Given the description of an element on the screen output the (x, y) to click on. 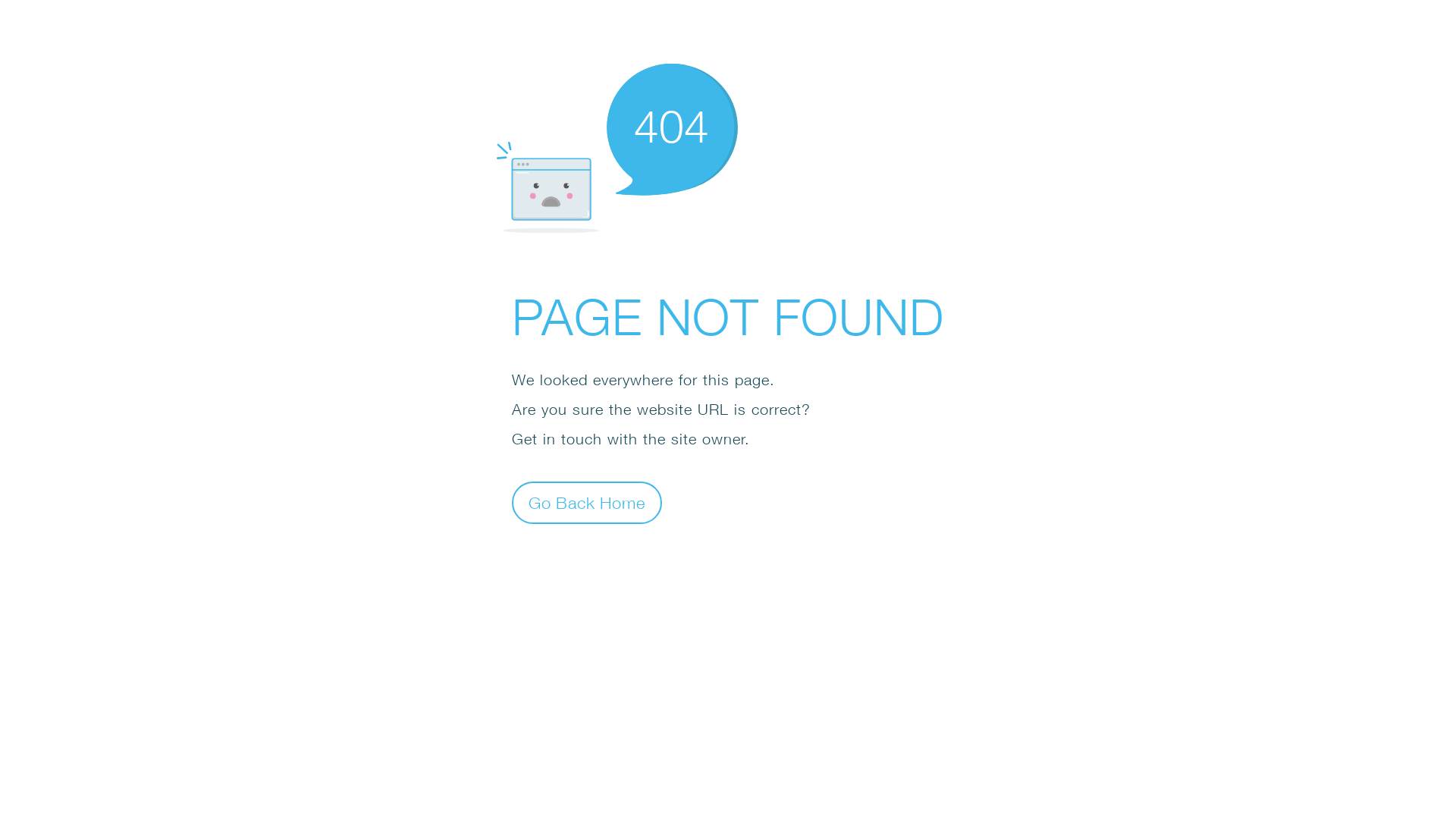
Go Back Home Element type: text (586, 502)
